Given the description of an element on the screen output the (x, y) to click on. 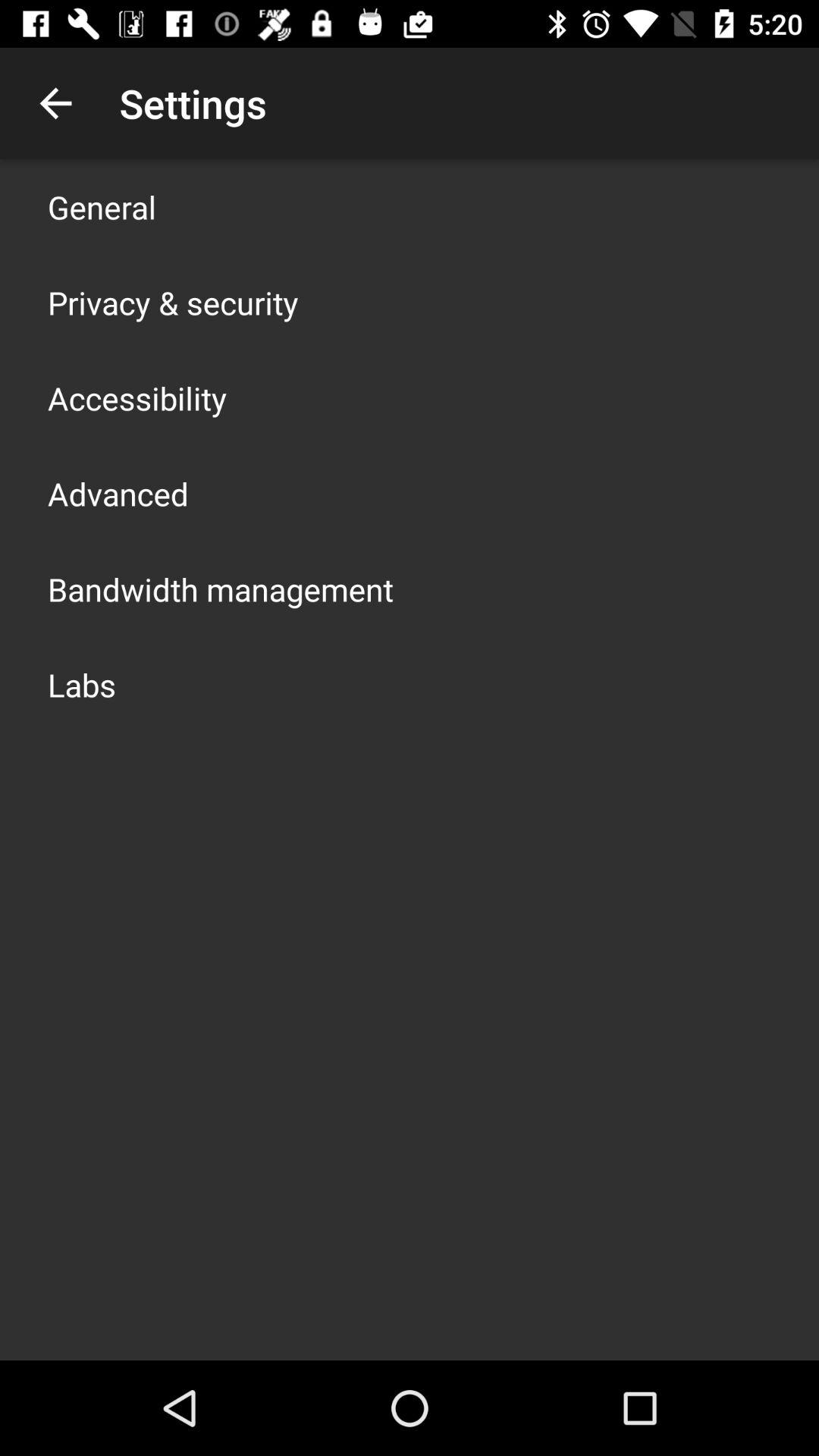
launch item above bandwidth management app (117, 493)
